Given the description of an element on the screen output the (x, y) to click on. 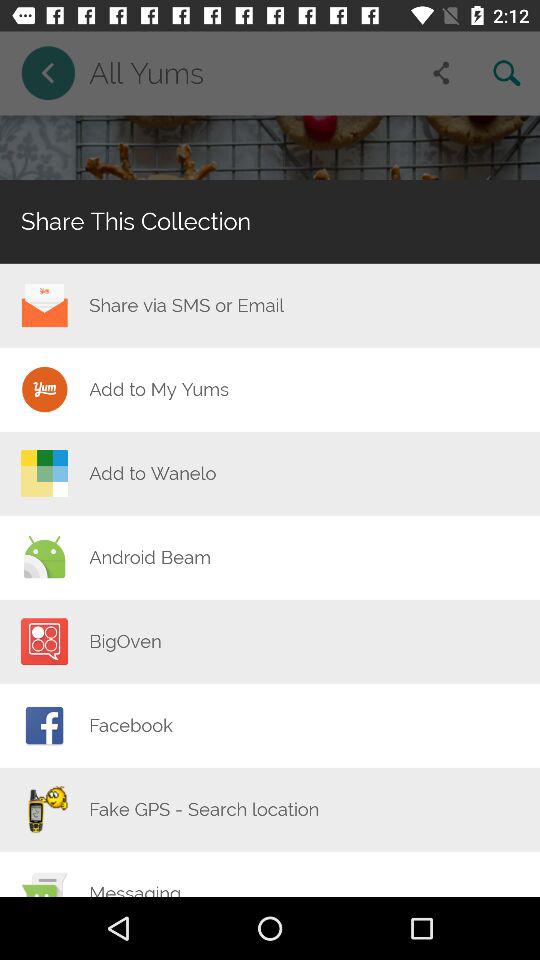
press the item at the bottom (204, 809)
